Given the description of an element on the screen output the (x, y) to click on. 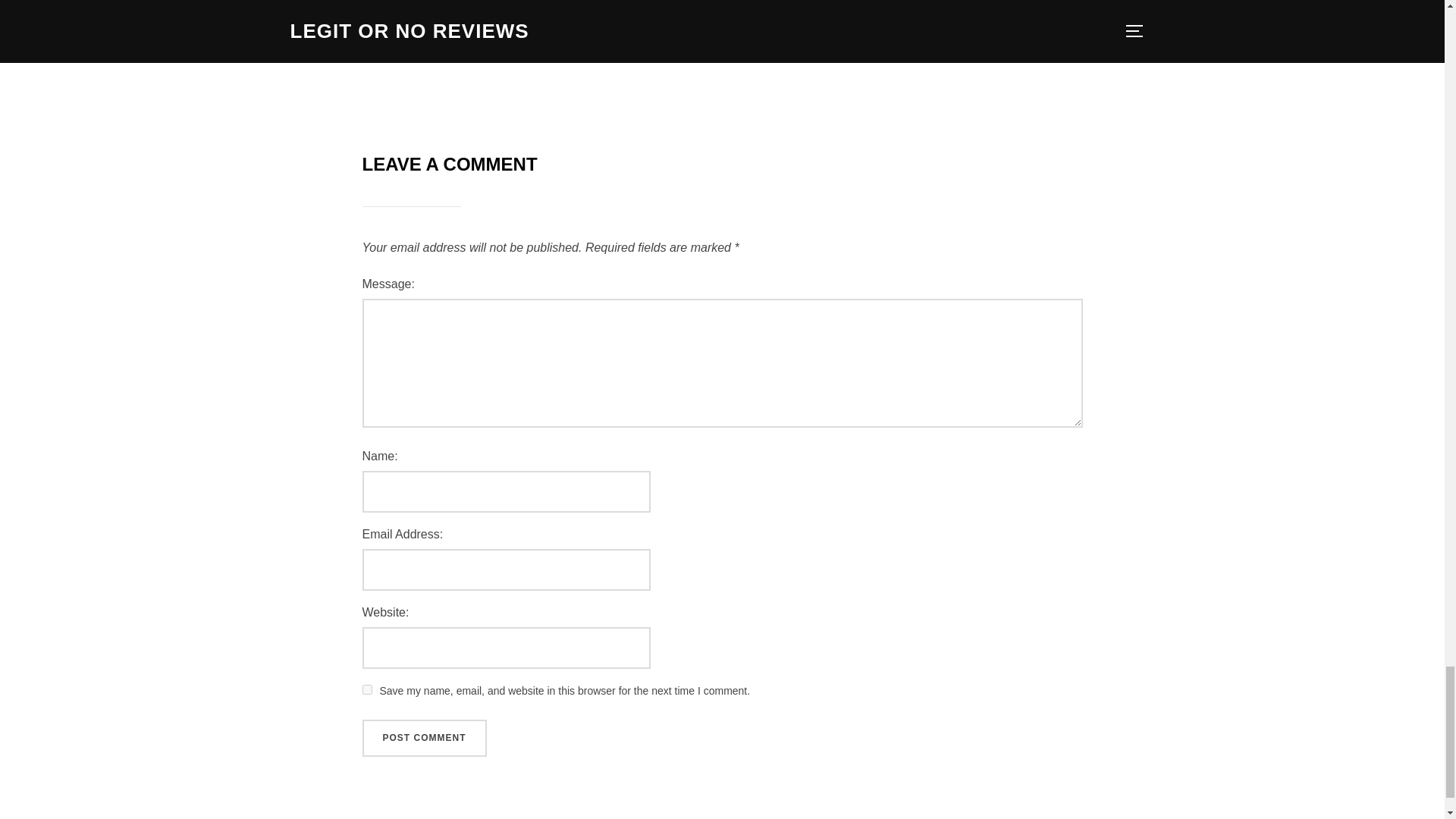
yes (367, 689)
Post Comment (424, 738)
Post Comment (424, 738)
